Given the description of an element on the screen output the (x, y) to click on. 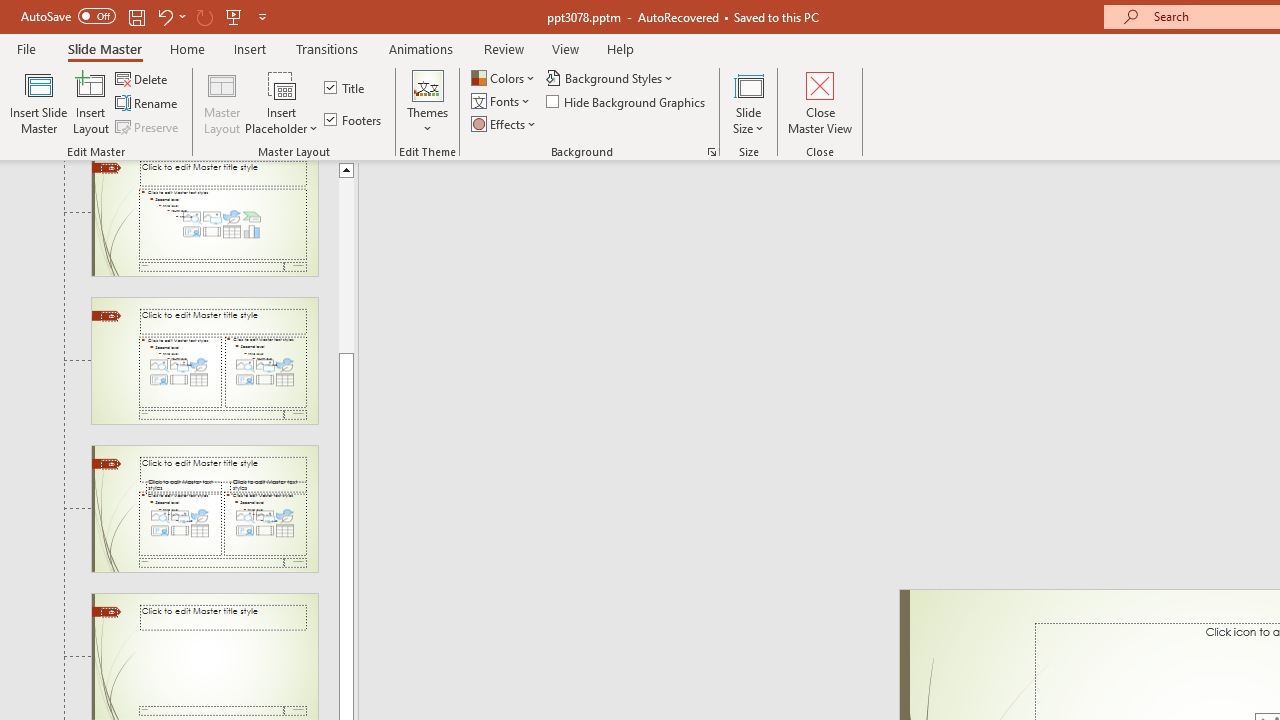
Title (346, 87)
Background Styles (610, 78)
Slide Master (104, 48)
Slide Comparison Layout: used by no slides (204, 508)
Hide Background Graphics (626, 101)
Colors (504, 78)
